Given the description of an element on the screen output the (x, y) to click on. 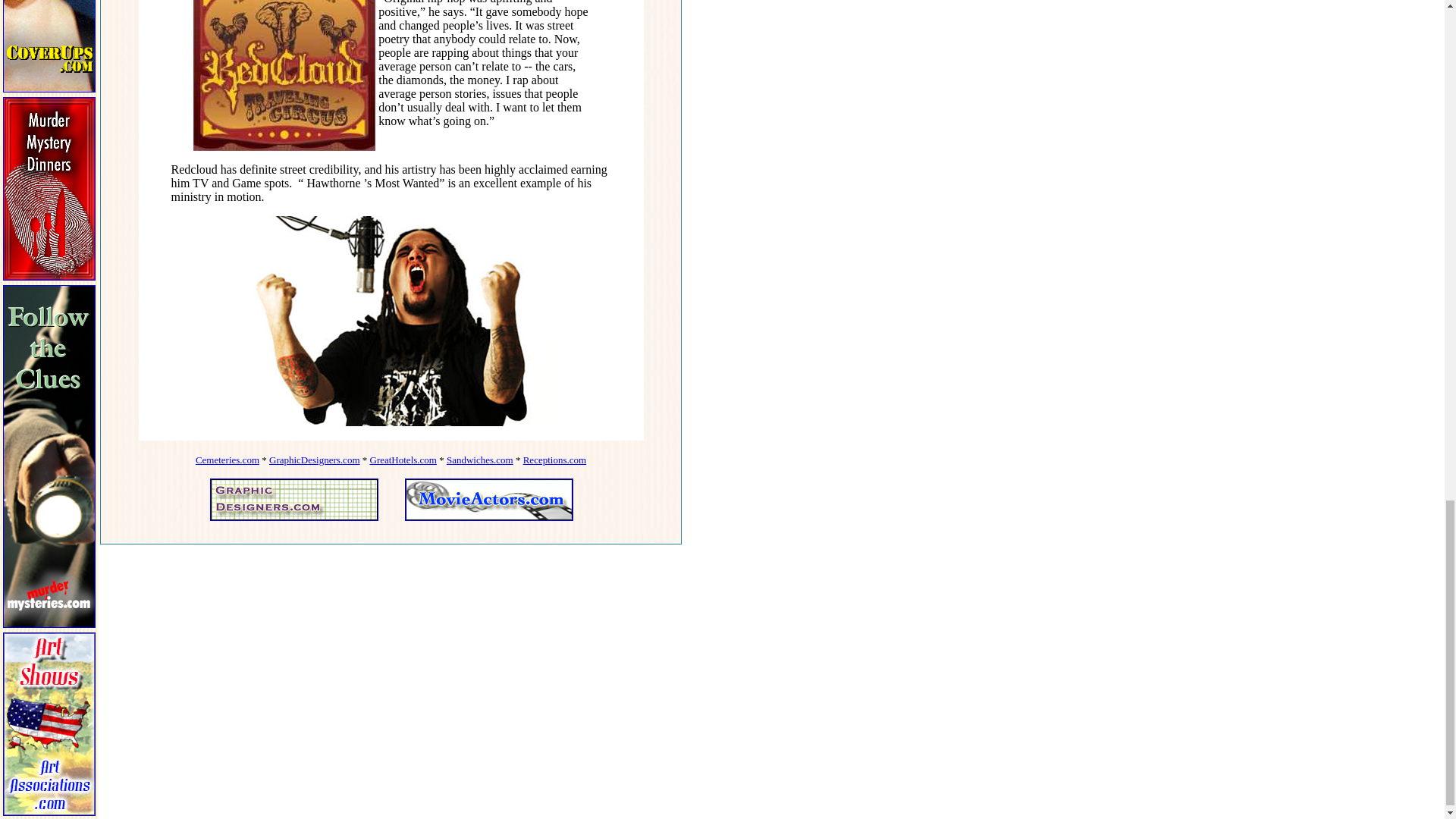
GreatHotels.com (402, 460)
GraphicDesigners.com (314, 460)
Sandwiches.com (479, 460)
Cemeteries.com (227, 460)
Receptions.com (554, 460)
